Given the description of an element on the screen output the (x, y) to click on. 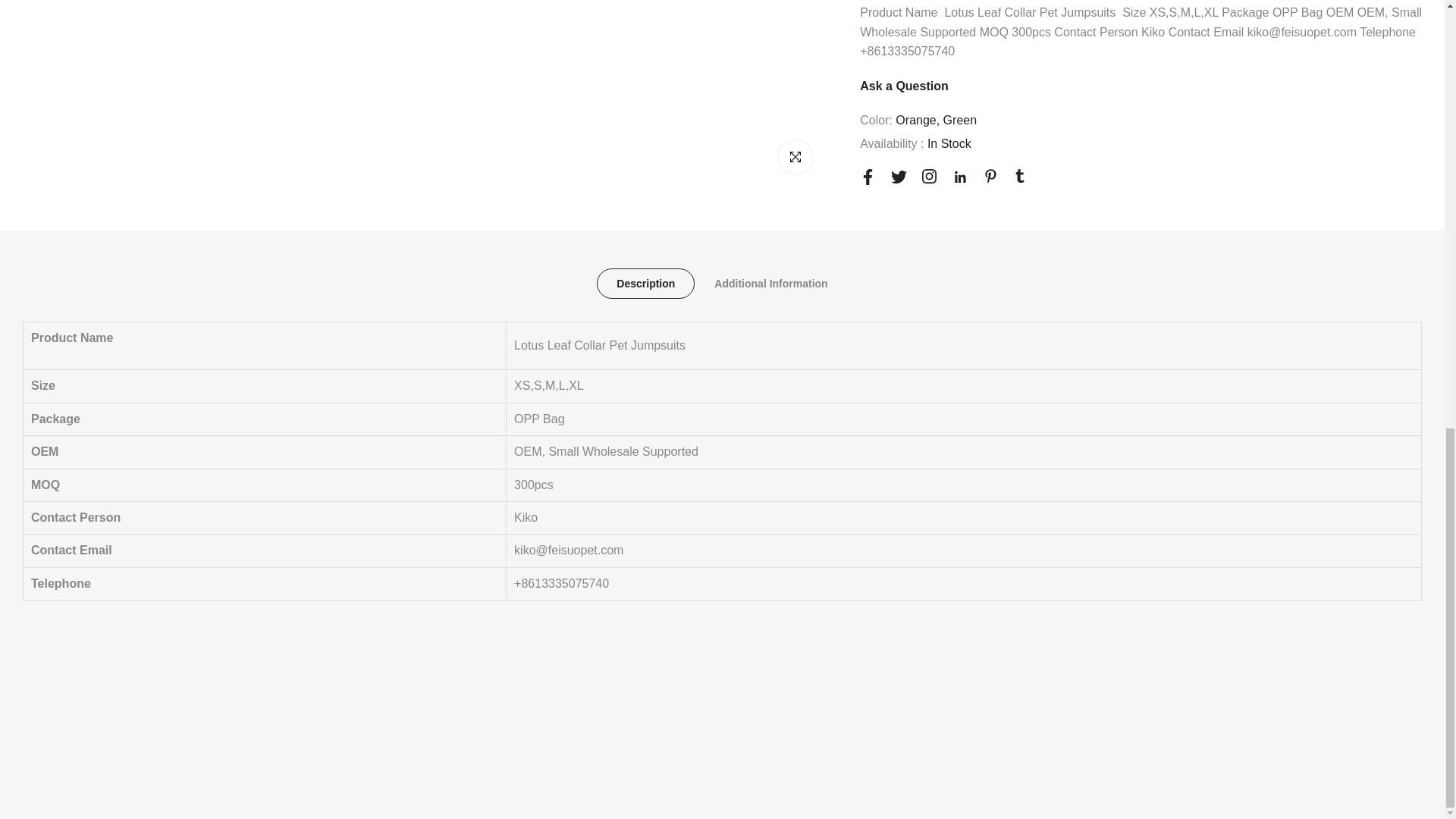
Description (645, 283)
Additional Information (770, 283)
